Given the description of an element on the screen output the (x, y) to click on. 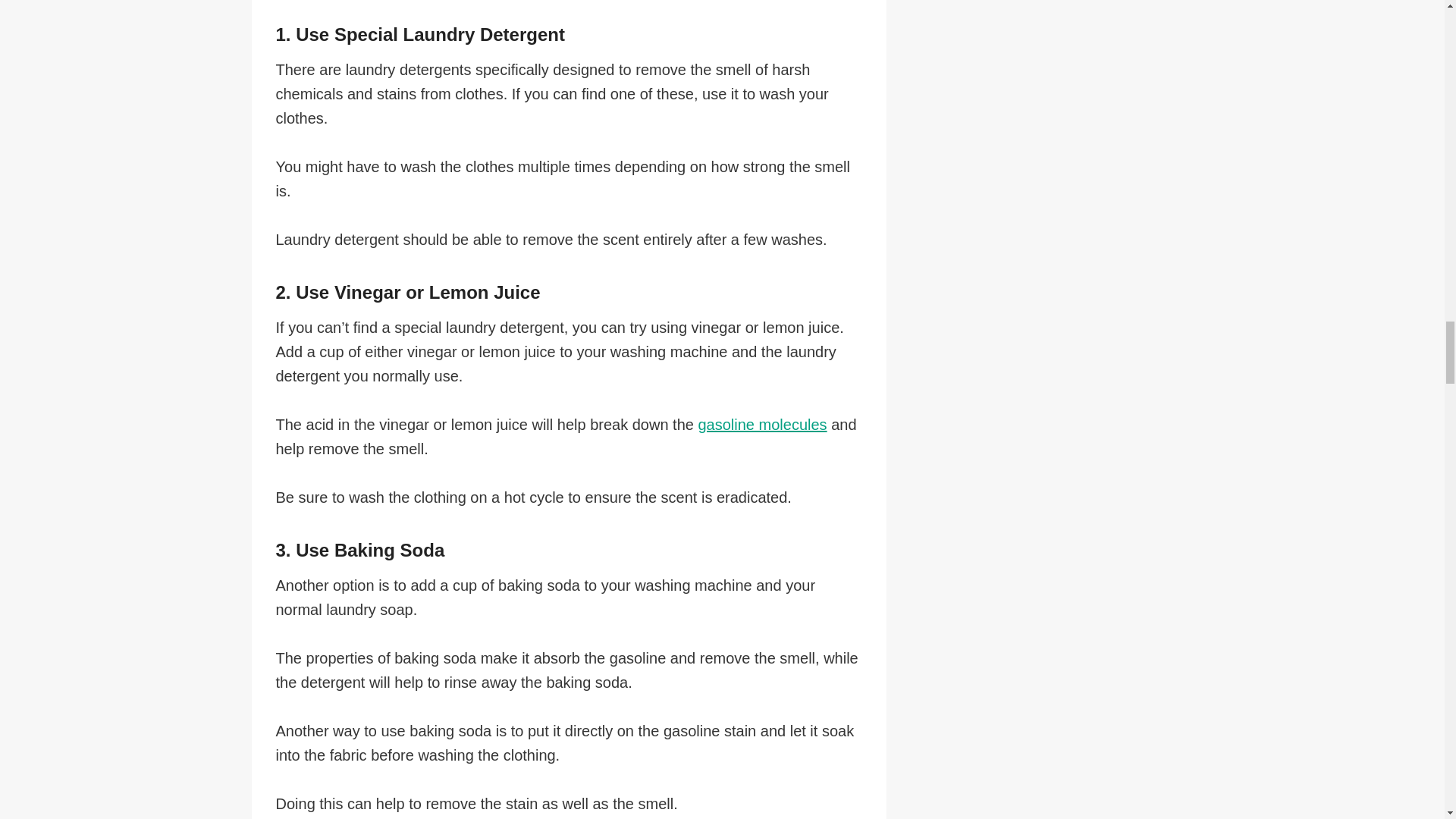
gasoline molecules (762, 424)
